Given the description of an element on the screen output the (x, y) to click on. 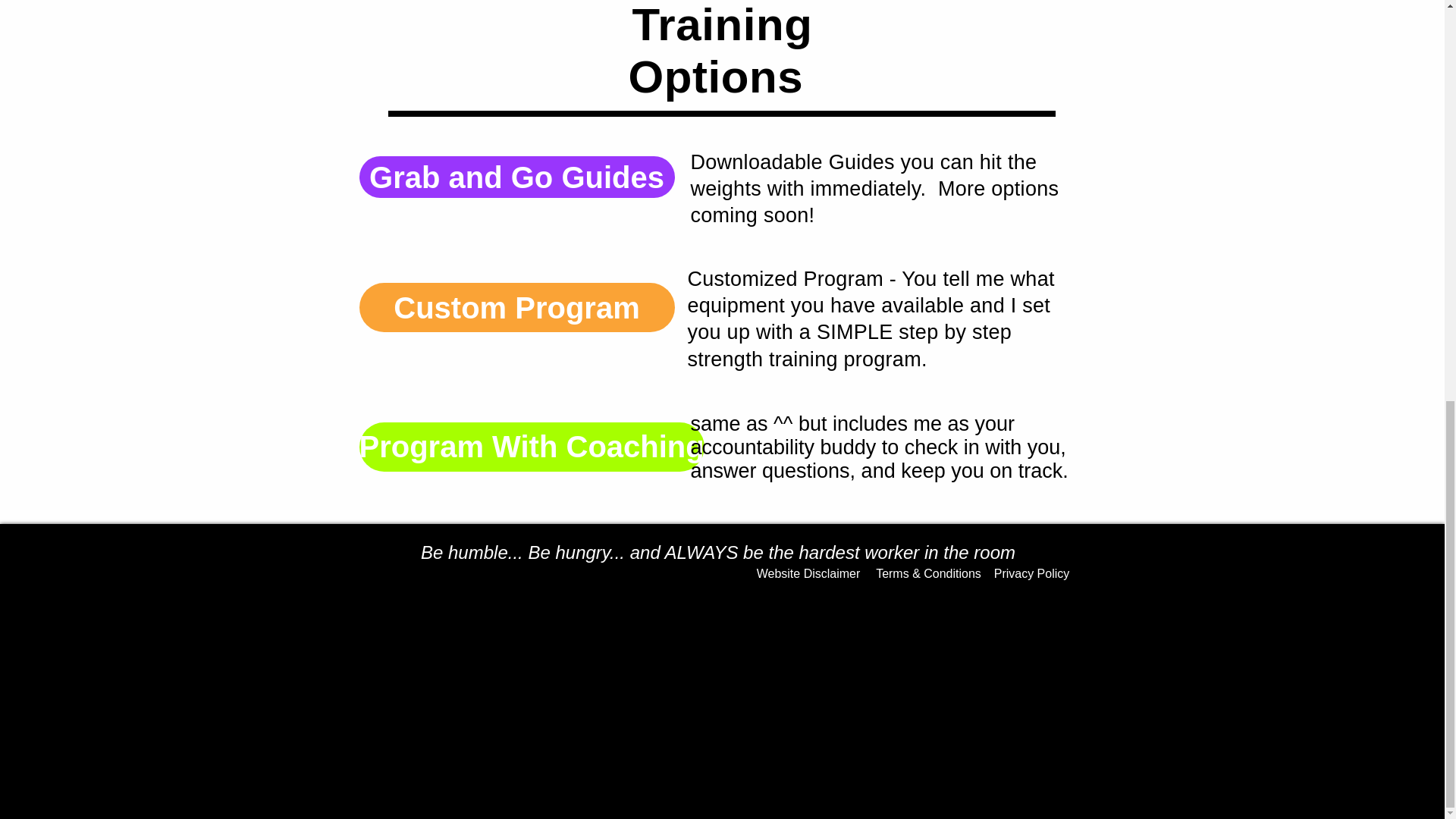
Grab and Go Guides (517, 177)
Privacy Policy (1030, 573)
Custom Program (517, 307)
Website Disclaimer (807, 573)
Program With Coaching (531, 446)
